Given the description of an element on the screen output the (x, y) to click on. 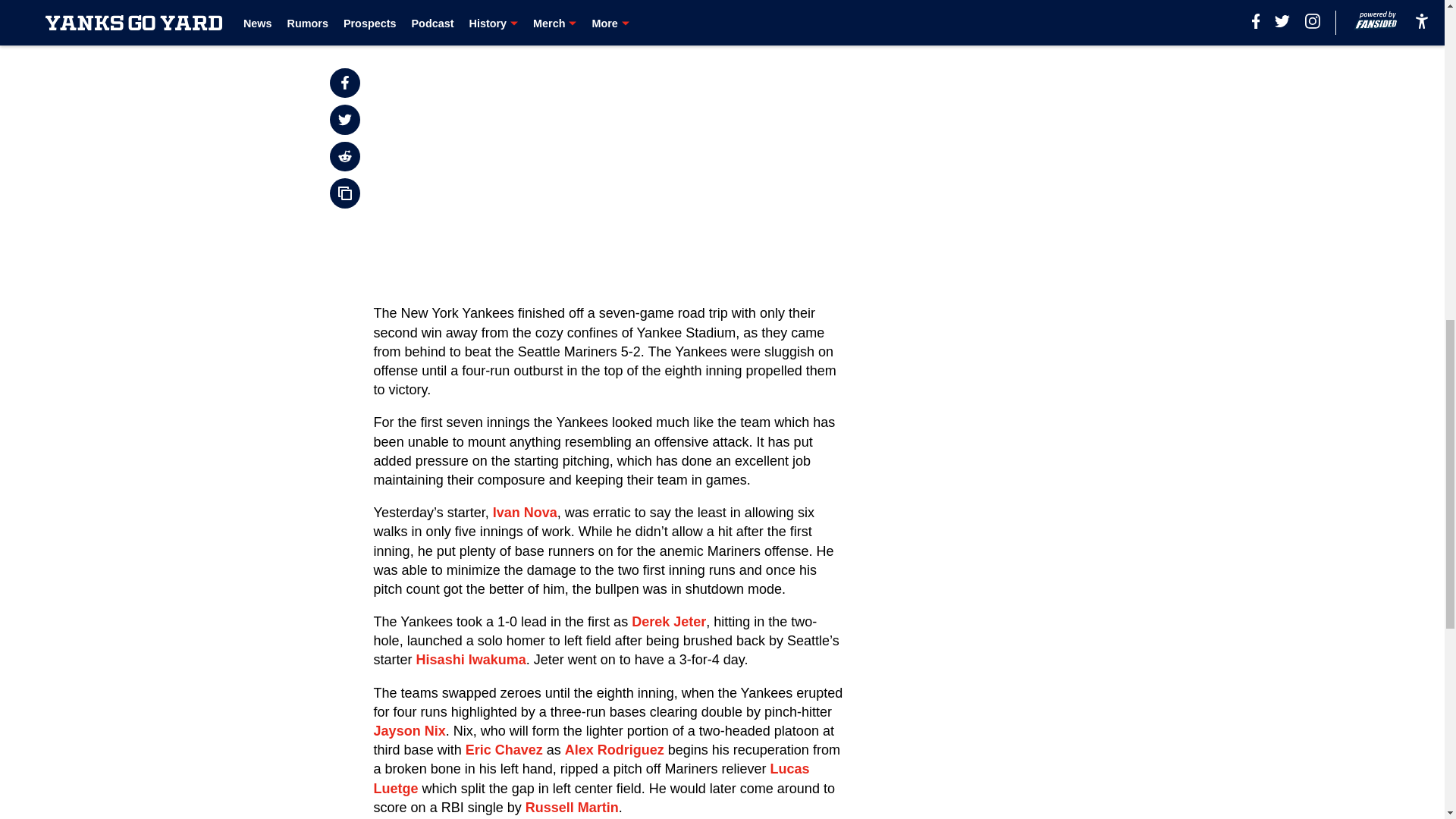
Derek Jeter (668, 621)
Ivan Nova (525, 512)
Hisashi Iwakuma (470, 659)
